Given the description of an element on the screen output the (x, y) to click on. 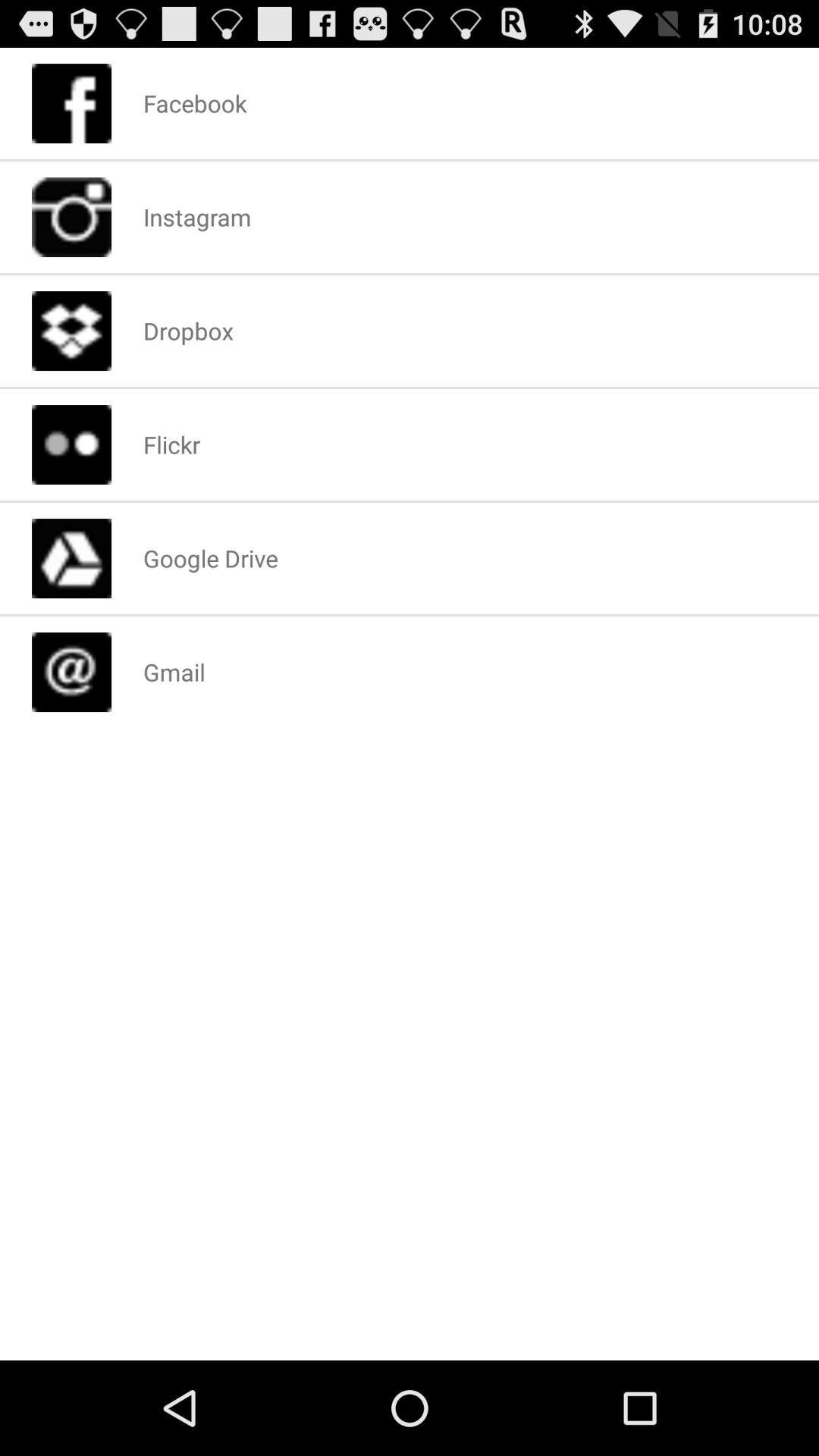
turn on the gmail (174, 671)
